Given the description of an element on the screen output the (x, y) to click on. 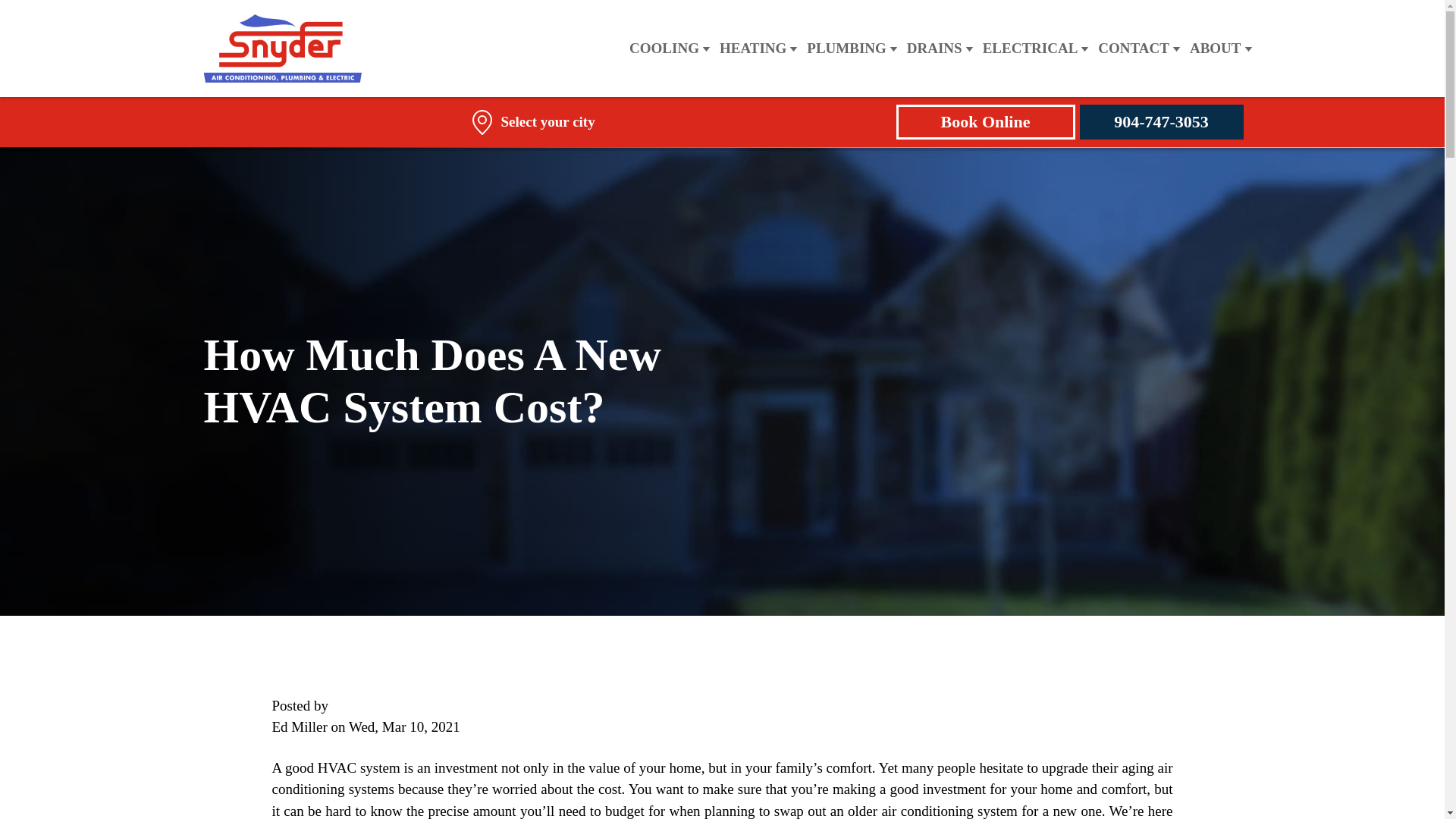
PLUMBING (846, 48)
COOLING (663, 48)
HEATING (752, 48)
